Given the description of an element on the screen output the (x, y) to click on. 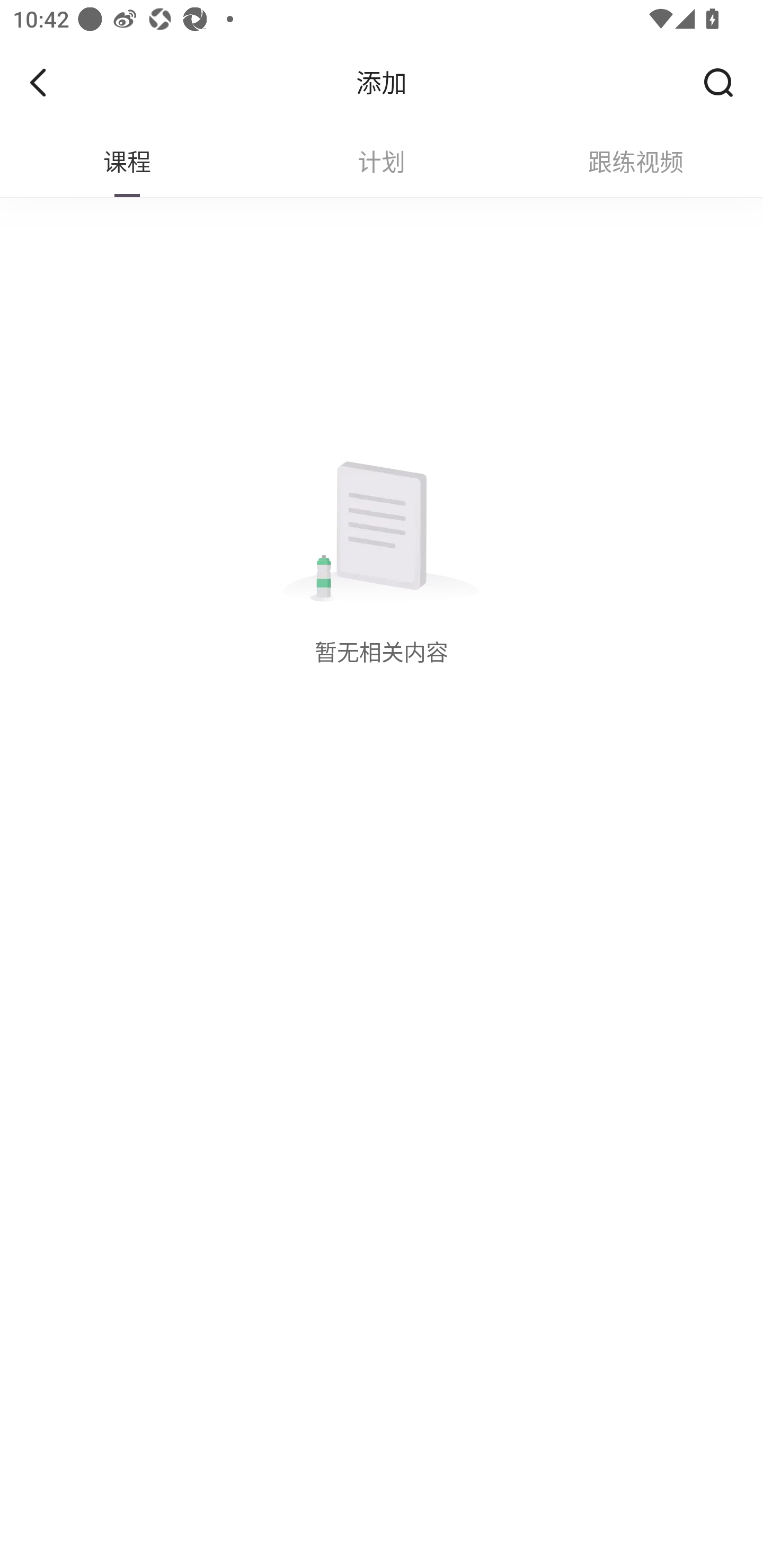
Left Button In Title Bar (50, 82)
Right Button In Title Bar (724, 82)
课程 (127, 162)
计划 (381, 162)
跟练视频 (635, 162)
暂无相关内容 (381, 566)
